Given the description of an element on the screen output the (x, y) to click on. 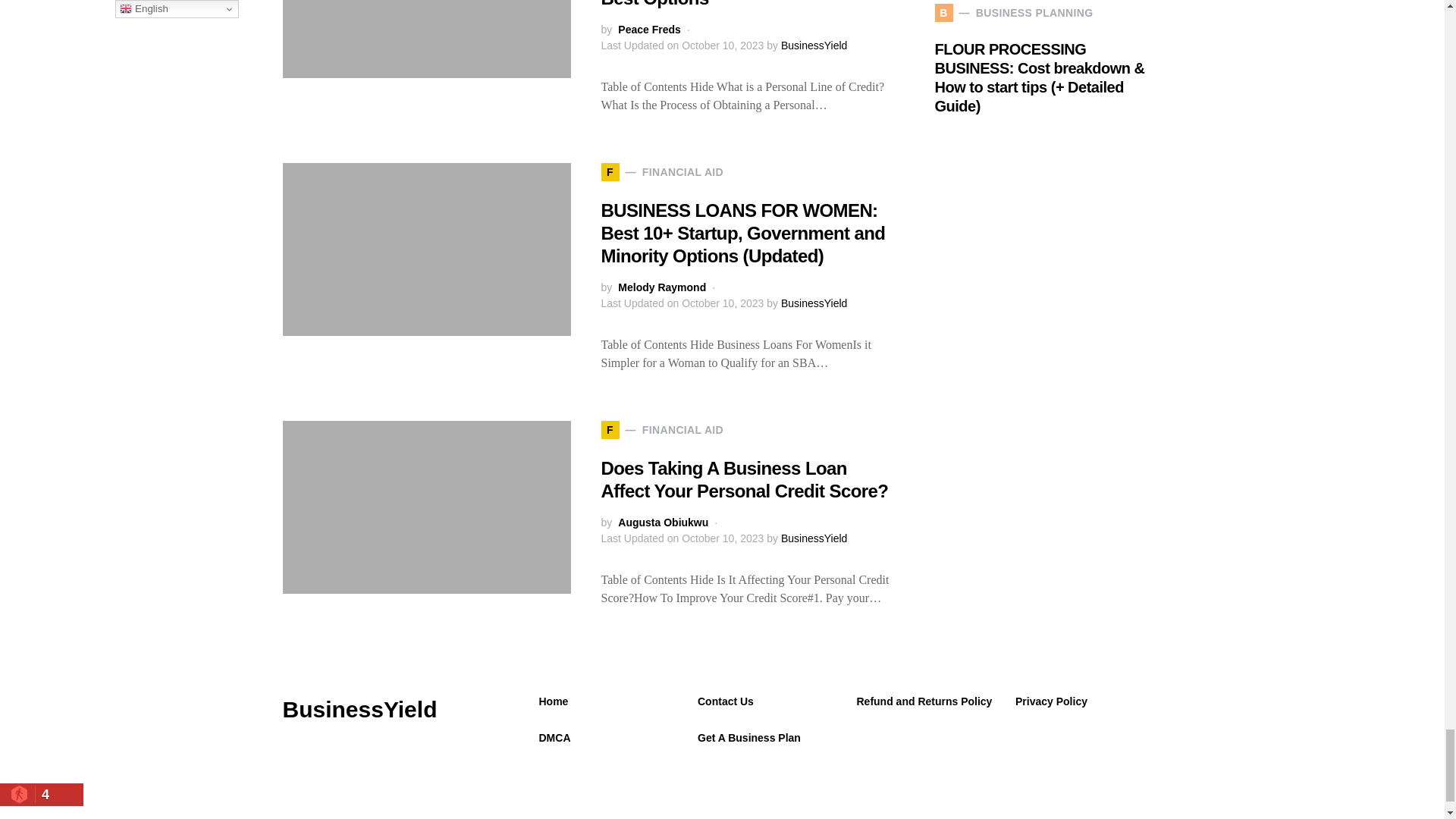
View all posts by Melody Raymond (661, 287)
View all posts by Augusta Obiukwu (662, 522)
View all posts by Peace Freds (649, 29)
